Given the description of an element on the screen output the (x, y) to click on. 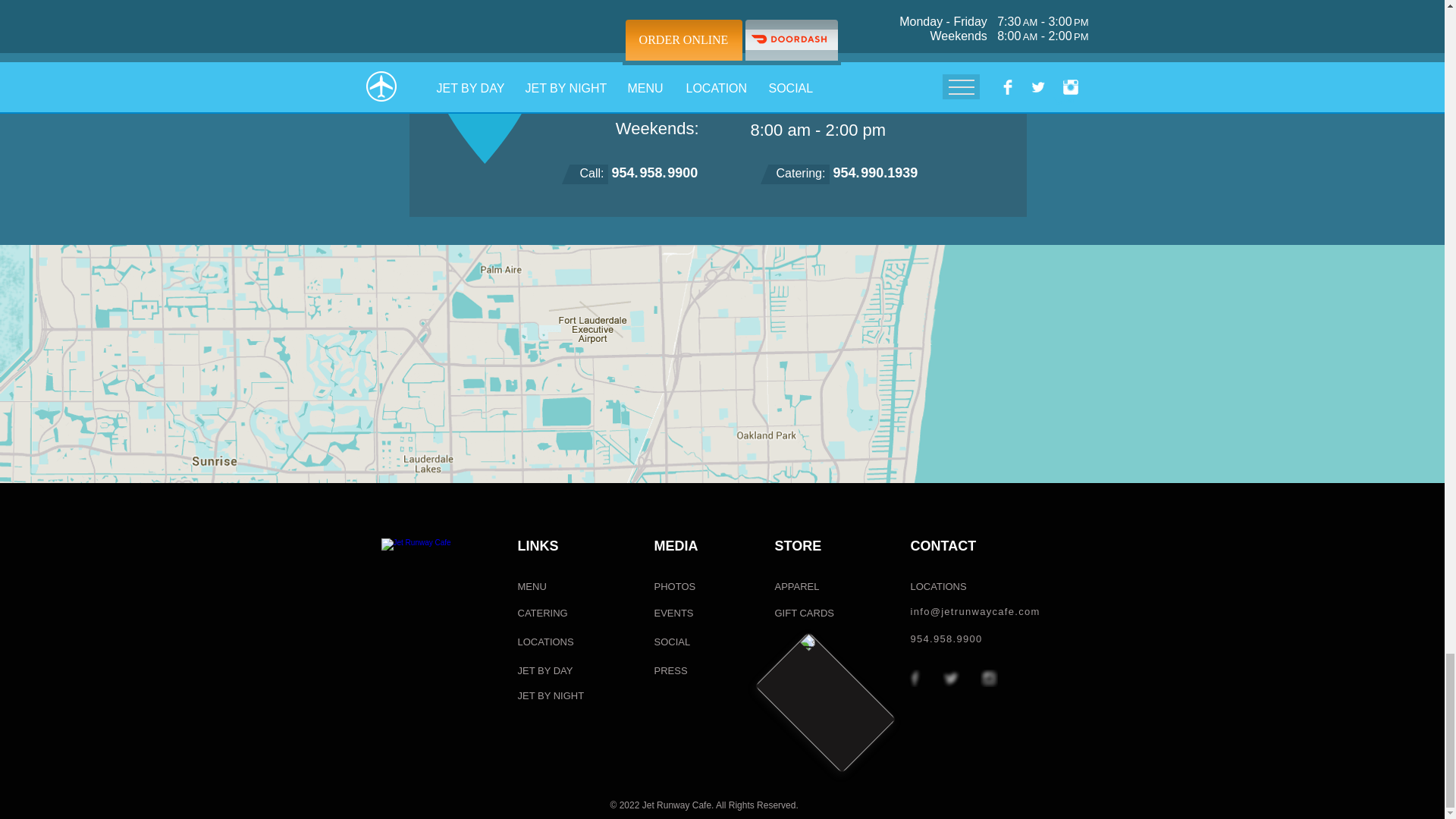
MENU (537, 586)
APPAREL (798, 586)
LOCATIONS (551, 642)
SOCIAL (676, 642)
JET BY NIGHT (551, 696)
JET BY DAY (547, 671)
CATERING (547, 613)
GIFT CARDS (804, 613)
PRESS (676, 671)
EVENTS (676, 613)
